Given the description of an element on the screen output the (x, y) to click on. 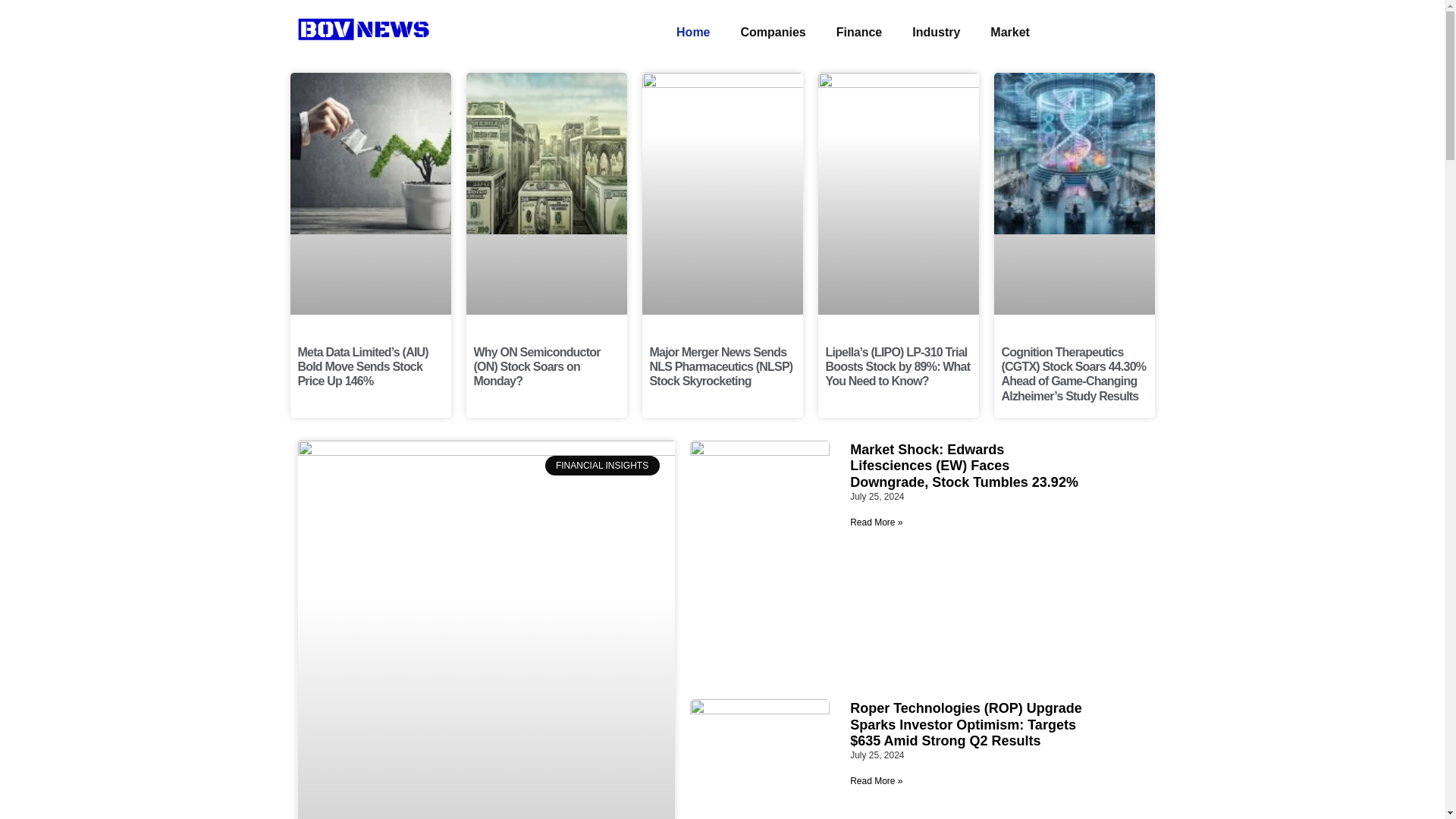
Industry (935, 32)
Finance (858, 32)
Market (1010, 32)
Home (693, 32)
Companies (773, 32)
